Given the description of an element on the screen output the (x, y) to click on. 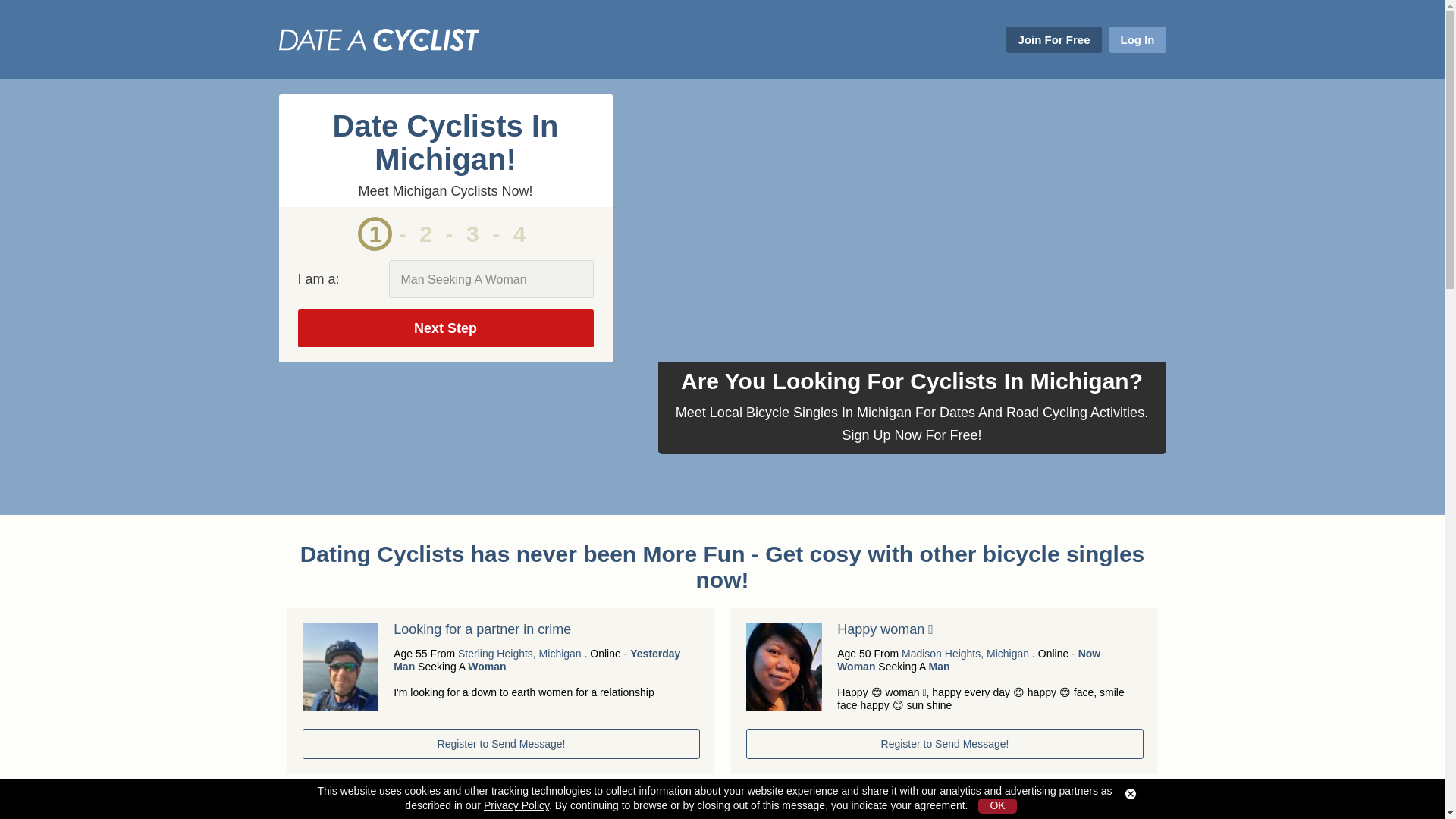
Next Step (444, 328)
Privacy Policy (515, 805)
Close (1130, 793)
Join For Free (1053, 39)
Log In (1137, 39)
OK (997, 806)
